Given the description of an element on the screen output the (x, y) to click on. 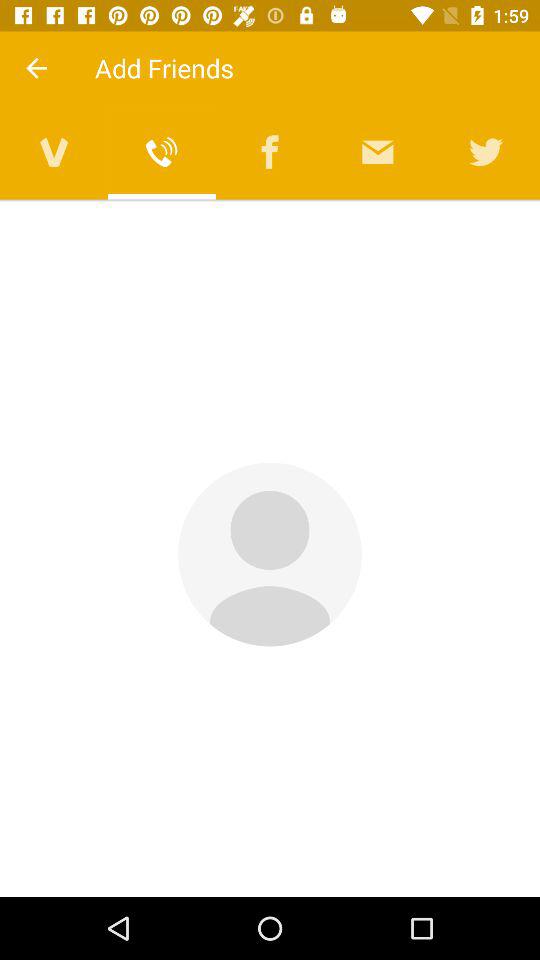
call (162, 152)
